Given the description of an element on the screen output the (x, y) to click on. 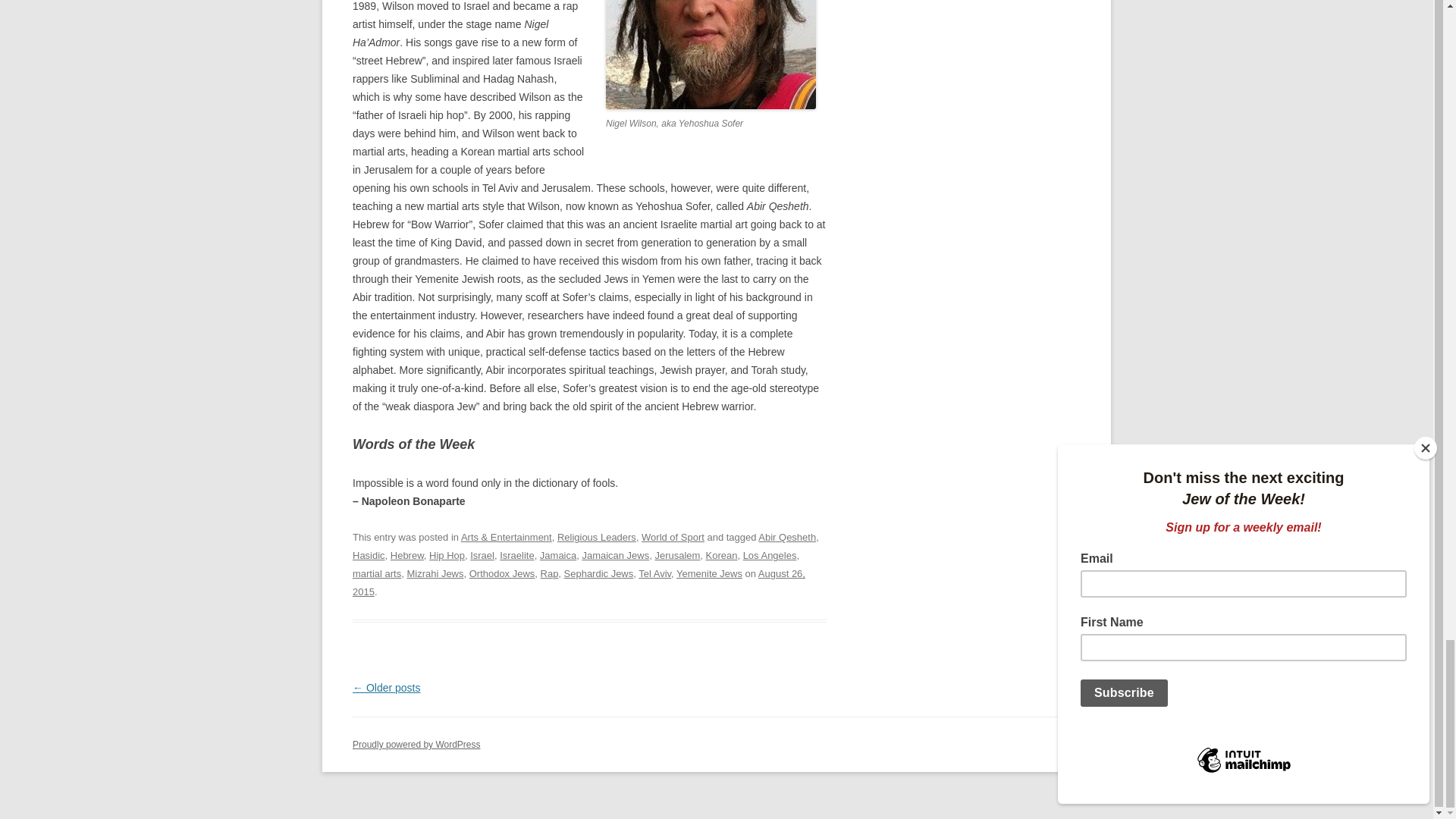
3:52 pm (578, 582)
Semantic Personal Publishing Platform (416, 744)
